Given the description of an element on the screen output the (x, y) to click on. 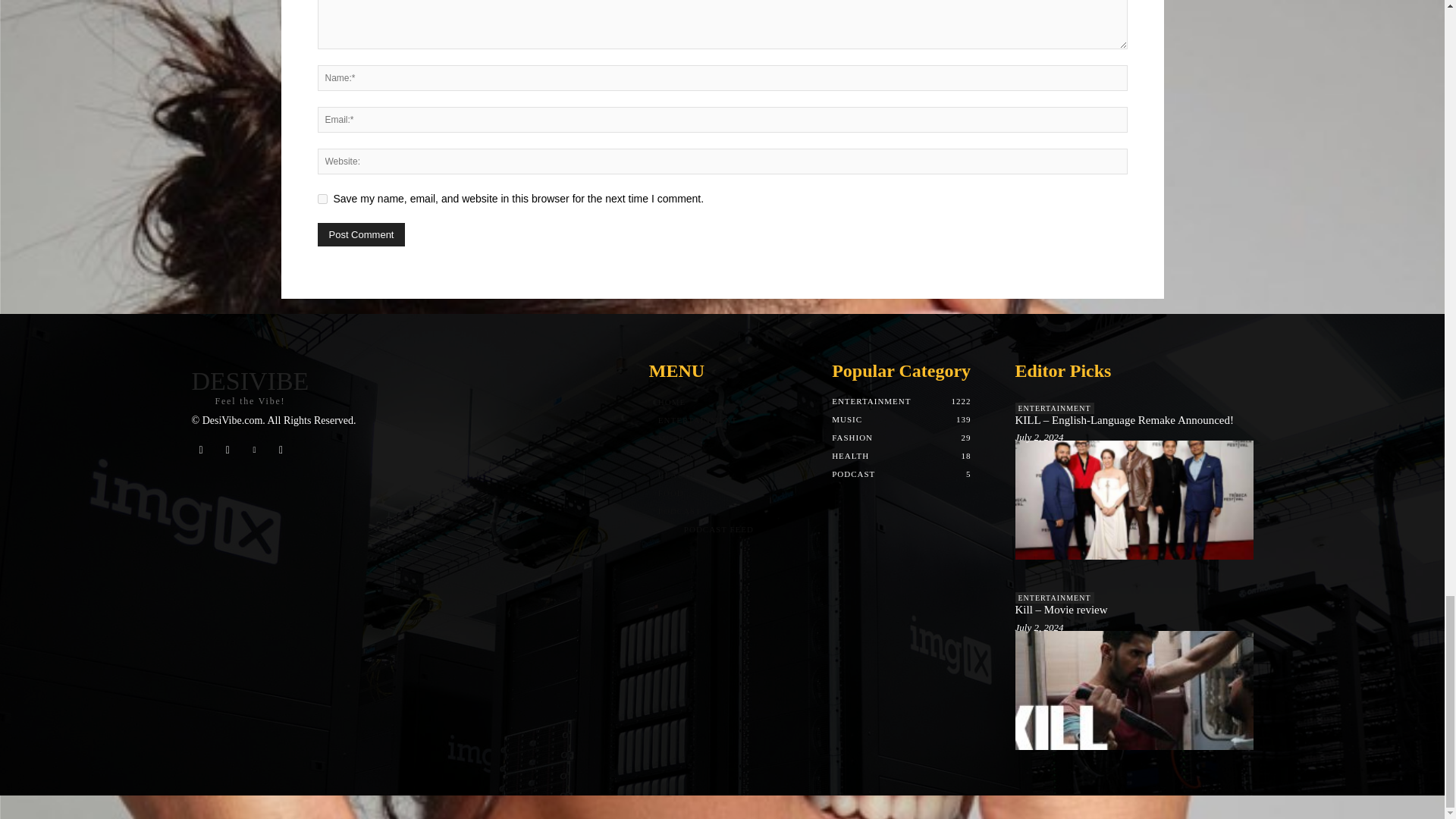
Post Comment (360, 234)
yes (321, 198)
